Given the description of an element on the screen output the (x, y) to click on. 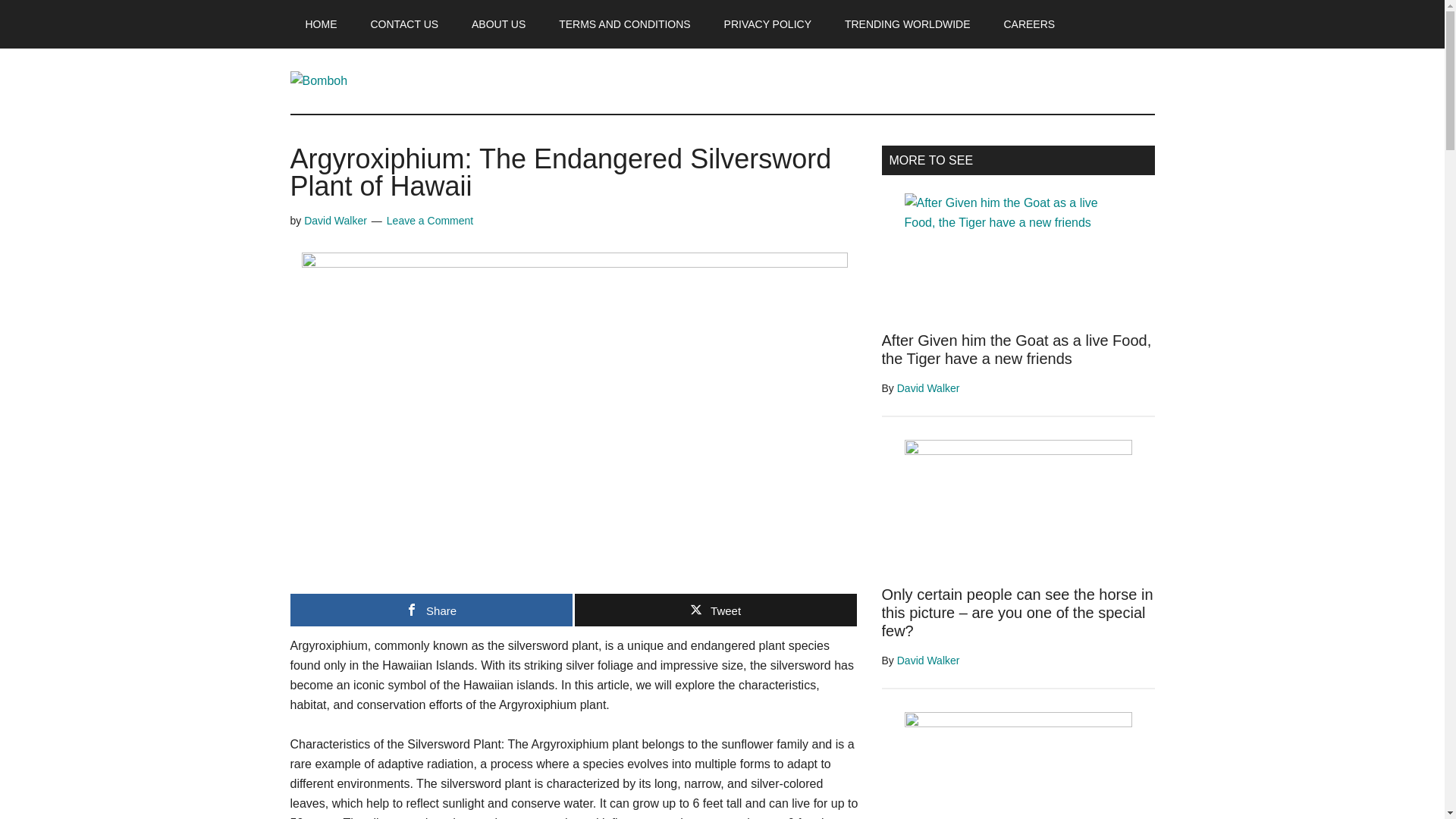
HOME (320, 24)
Tweet (716, 609)
David Walker (335, 220)
David Walker (927, 660)
David Walker (927, 387)
Leave a Comment (430, 220)
ABOUT US (498, 24)
Share (430, 609)
TRENDING WORLDWIDE (907, 24)
TERMS AND CONDITIONS (623, 24)
PRIVACY POLICY (768, 24)
CONTACT US (403, 24)
CAREERS (1029, 24)
